Given the description of an element on the screen output the (x, y) to click on. 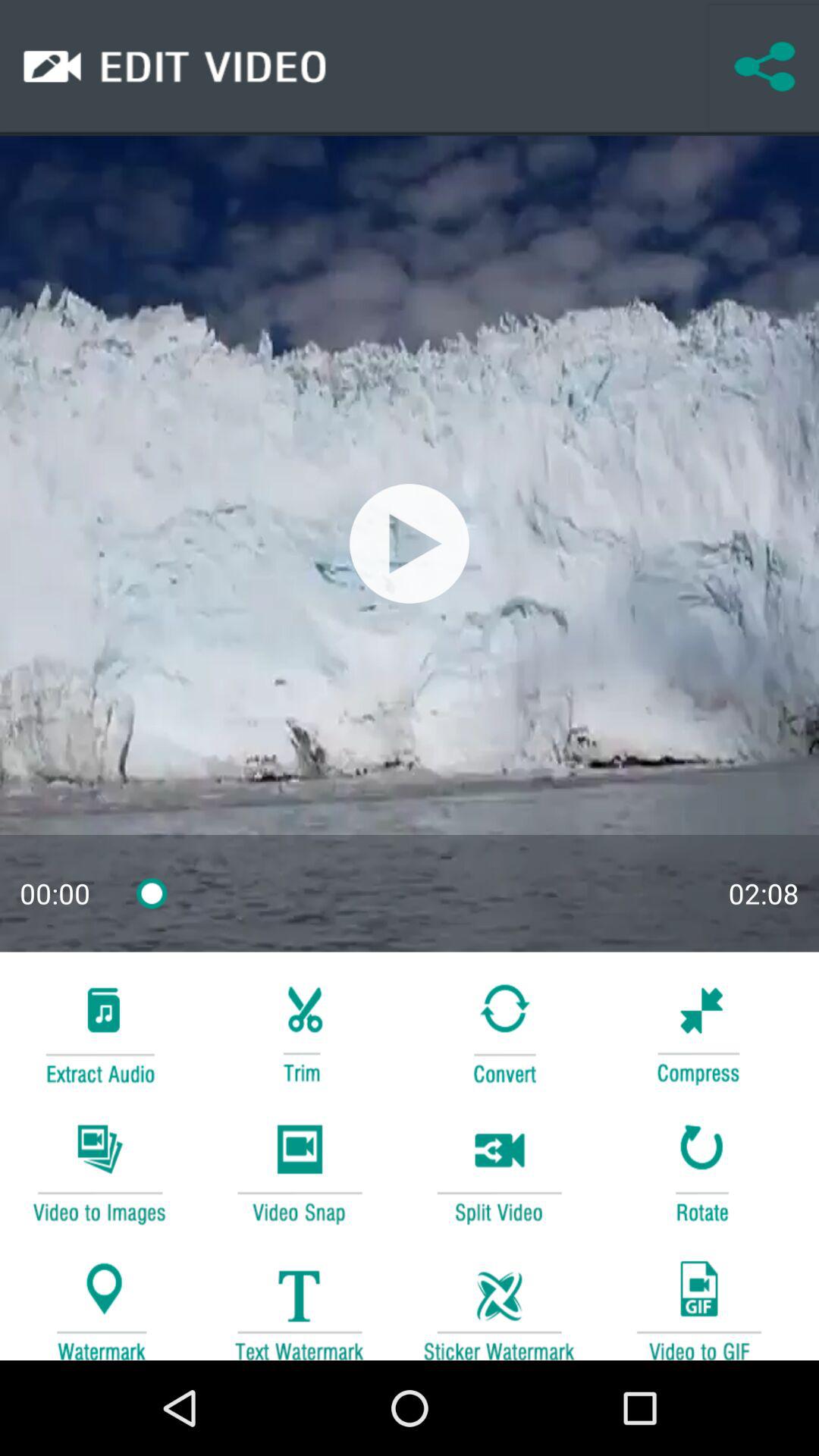
extract audio from video (99, 1032)
